Given the description of an element on the screen output the (x, y) to click on. 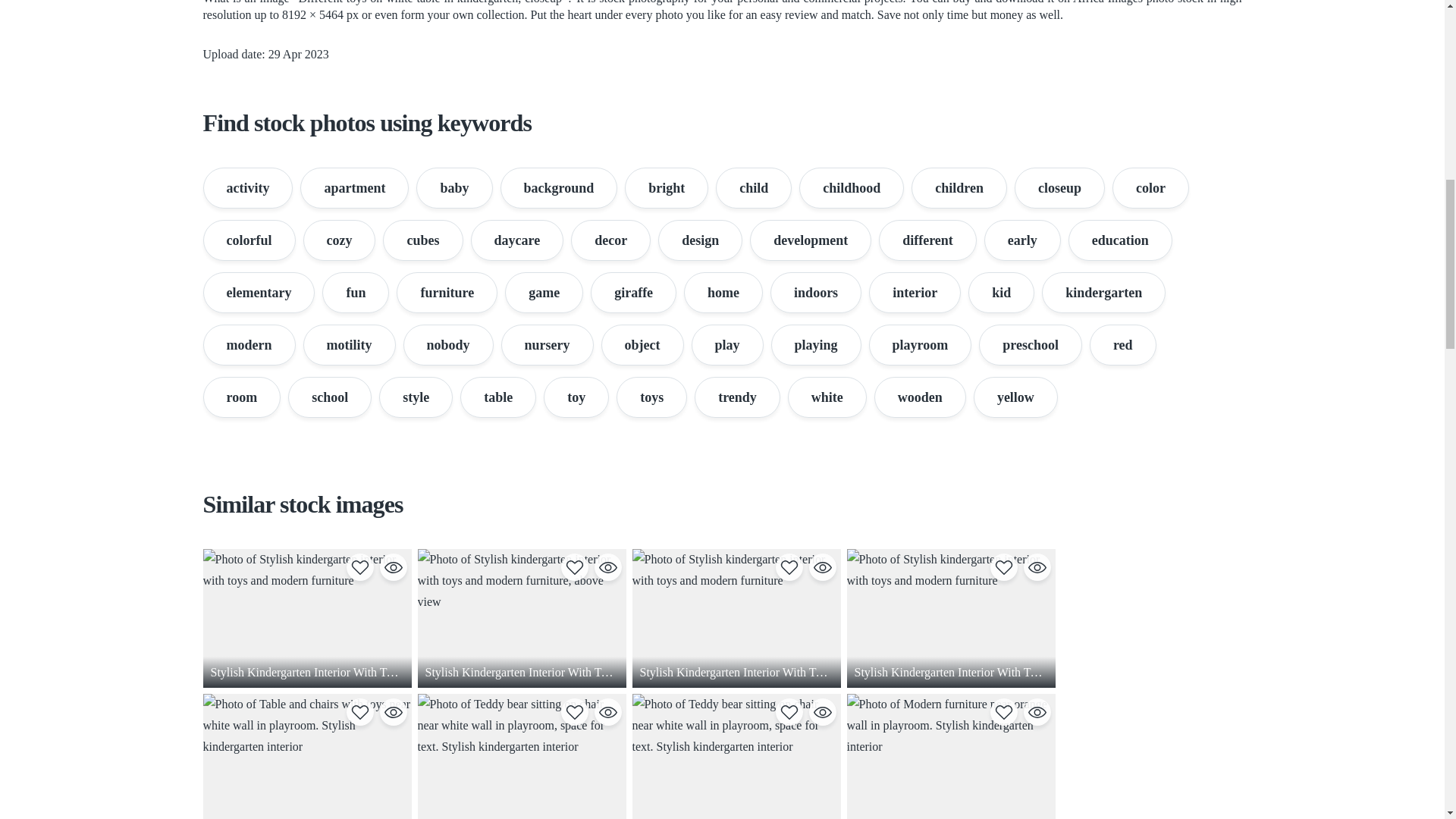
different (927, 240)
Stylish kindergarten interior with toys and modern furniture (949, 617)
children (959, 187)
cozy (338, 240)
apartment (354, 187)
childhood (851, 187)
activity (248, 187)
development (809, 240)
decor (610, 240)
